Given the description of an element on the screen output the (x, y) to click on. 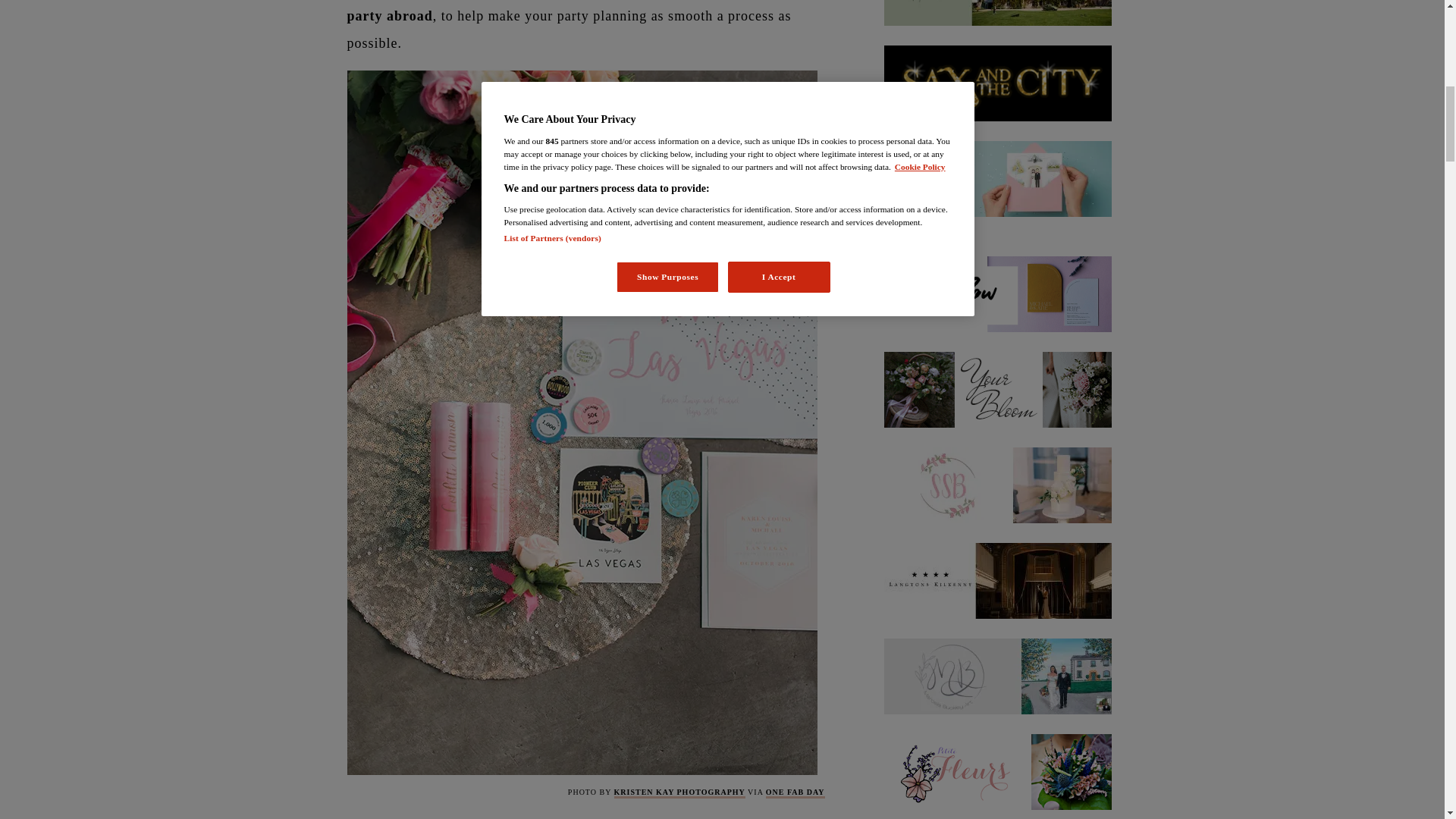
Kristen Kay Photography (679, 792)
